Given the description of an element on the screen output the (x, y) to click on. 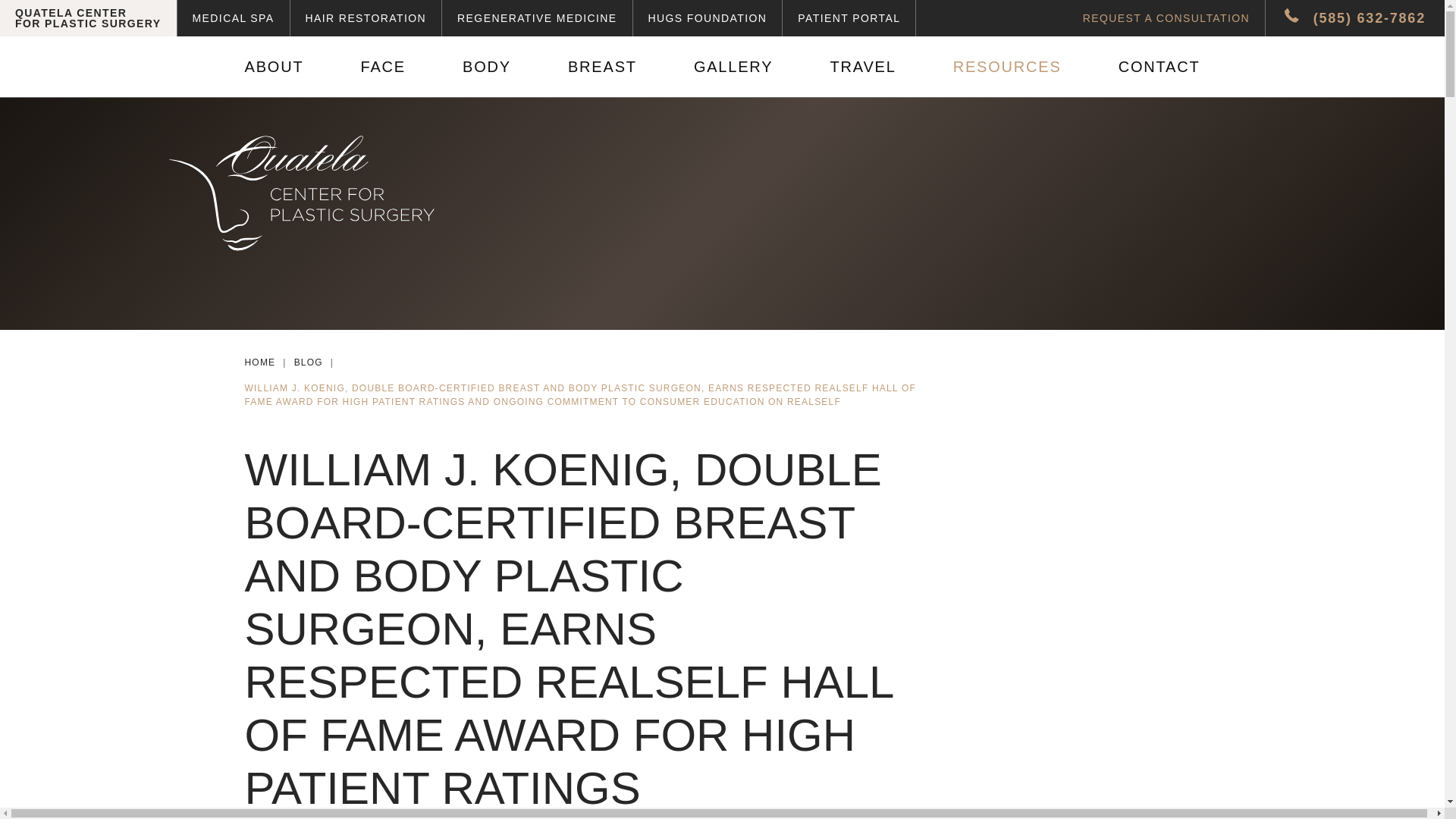
REGENERATIVE MEDICINE (88, 18)
Go to Blog. (536, 18)
HUGS FOUNDATION (308, 362)
FACE (706, 18)
Go to Quatela Center for Plastic Surgery. (382, 66)
HAIR RESTORATION (259, 362)
ABOUT (365, 18)
MEDICAL SPA (277, 66)
REQUEST A CONSULTATION (233, 18)
PATIENT PORTAL (1166, 18)
